Given the description of an element on the screen output the (x, y) to click on. 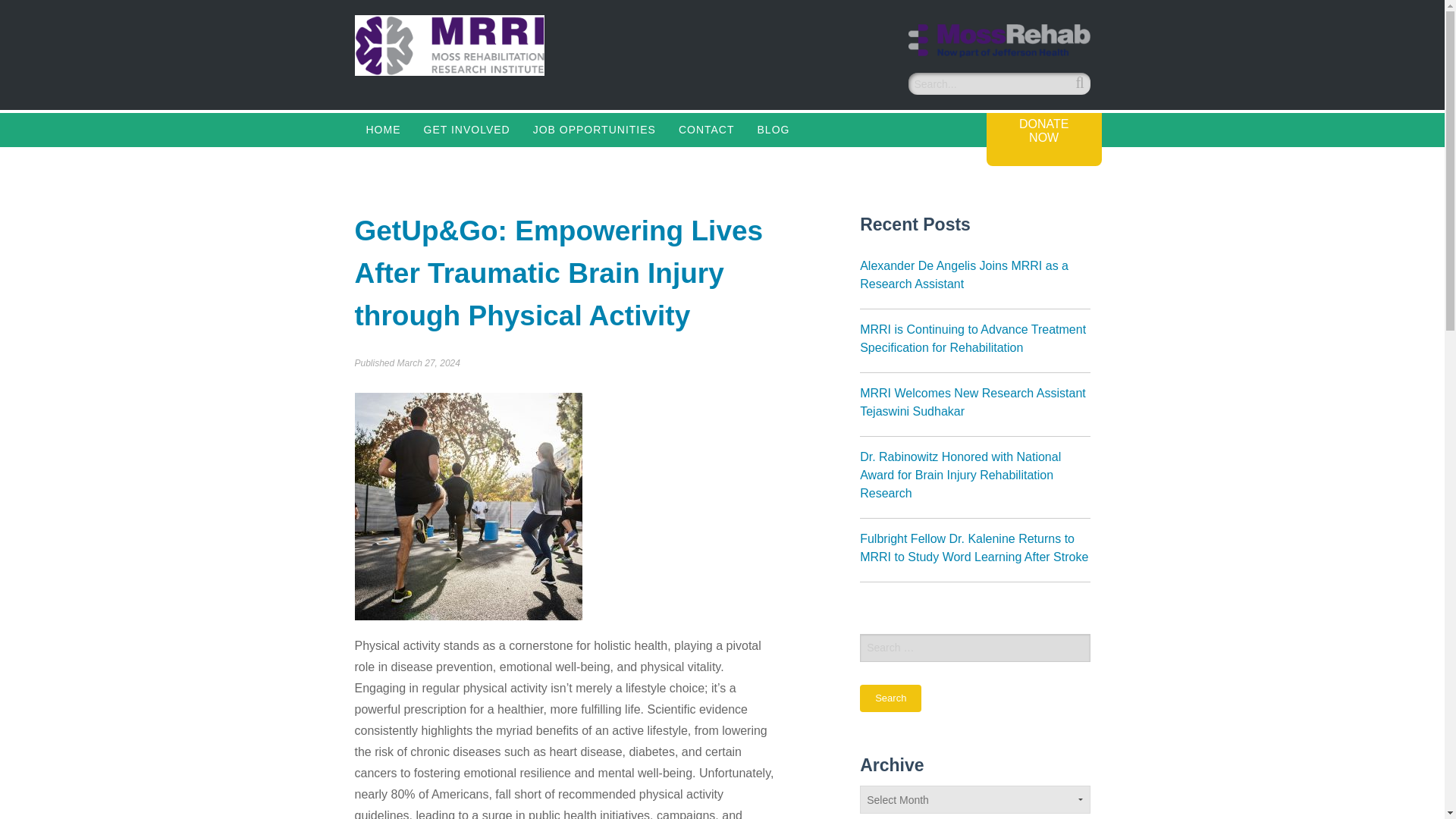
Alexander De Angelis Joins MRRI as a Research Assistant (974, 277)
DONATE NOW (1044, 139)
BLOG (773, 130)
Search (890, 697)
CONTACT (705, 130)
March 27, 2024 (428, 362)
MRRI Welcomes New Research Assistant Tejaswini Sudhakar (974, 404)
GET INVOLVED (466, 130)
JOB OPPORTUNITIES (593, 130)
